Given the description of an element on the screen output the (x, y) to click on. 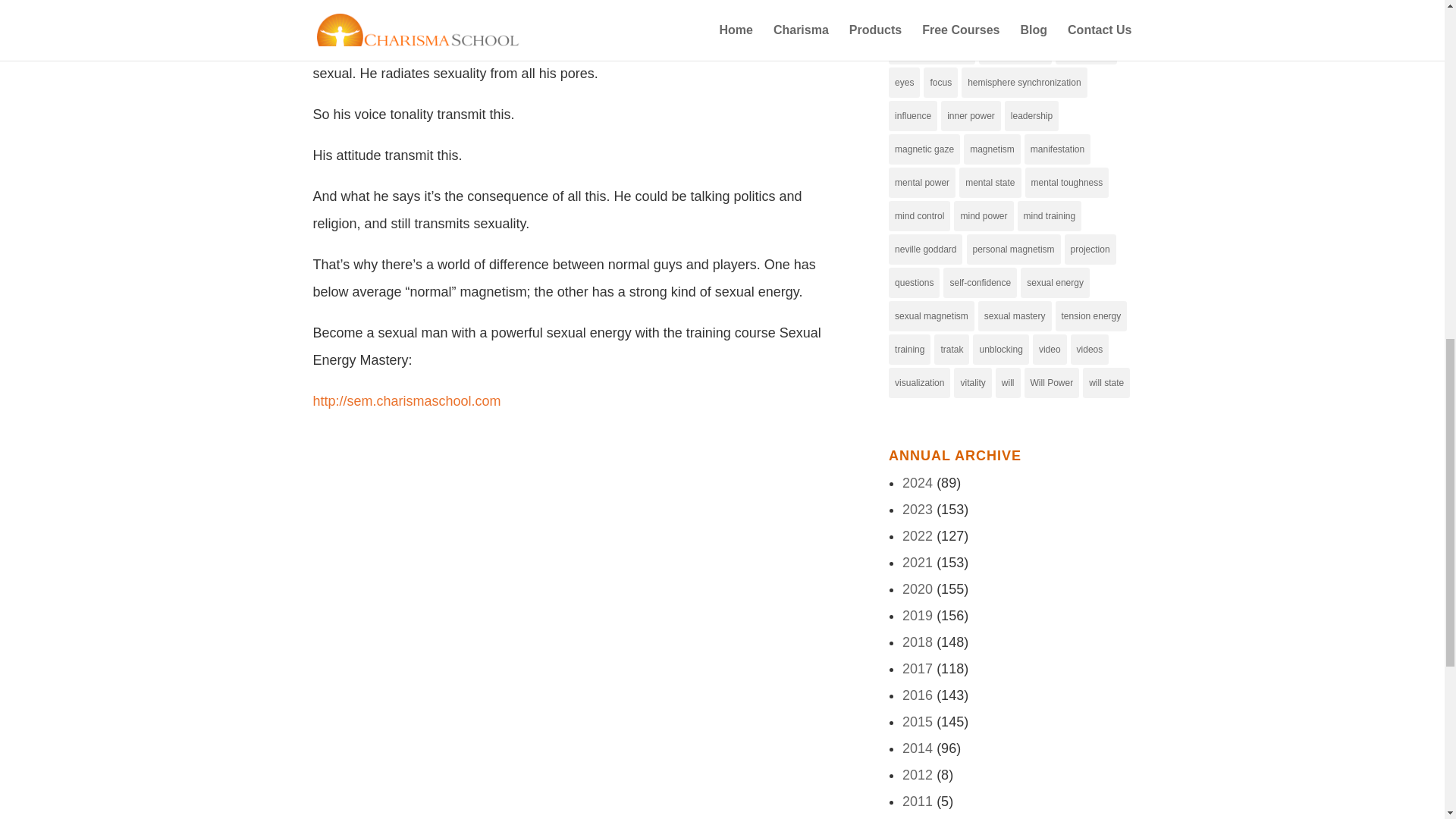
influence (912, 115)
concentration (921, 15)
projection (1090, 249)
energy awareness (931, 49)
magnetic gaze (923, 149)
mental power (921, 182)
mental toughness (1067, 182)
personal magnetism (1012, 249)
mind training (1049, 215)
energy training (1014, 49)
mind control (919, 215)
coronavirus (988, 15)
focus (940, 82)
mental state (989, 182)
energy work (1085, 49)
